Given the description of an element on the screen output the (x, y) to click on. 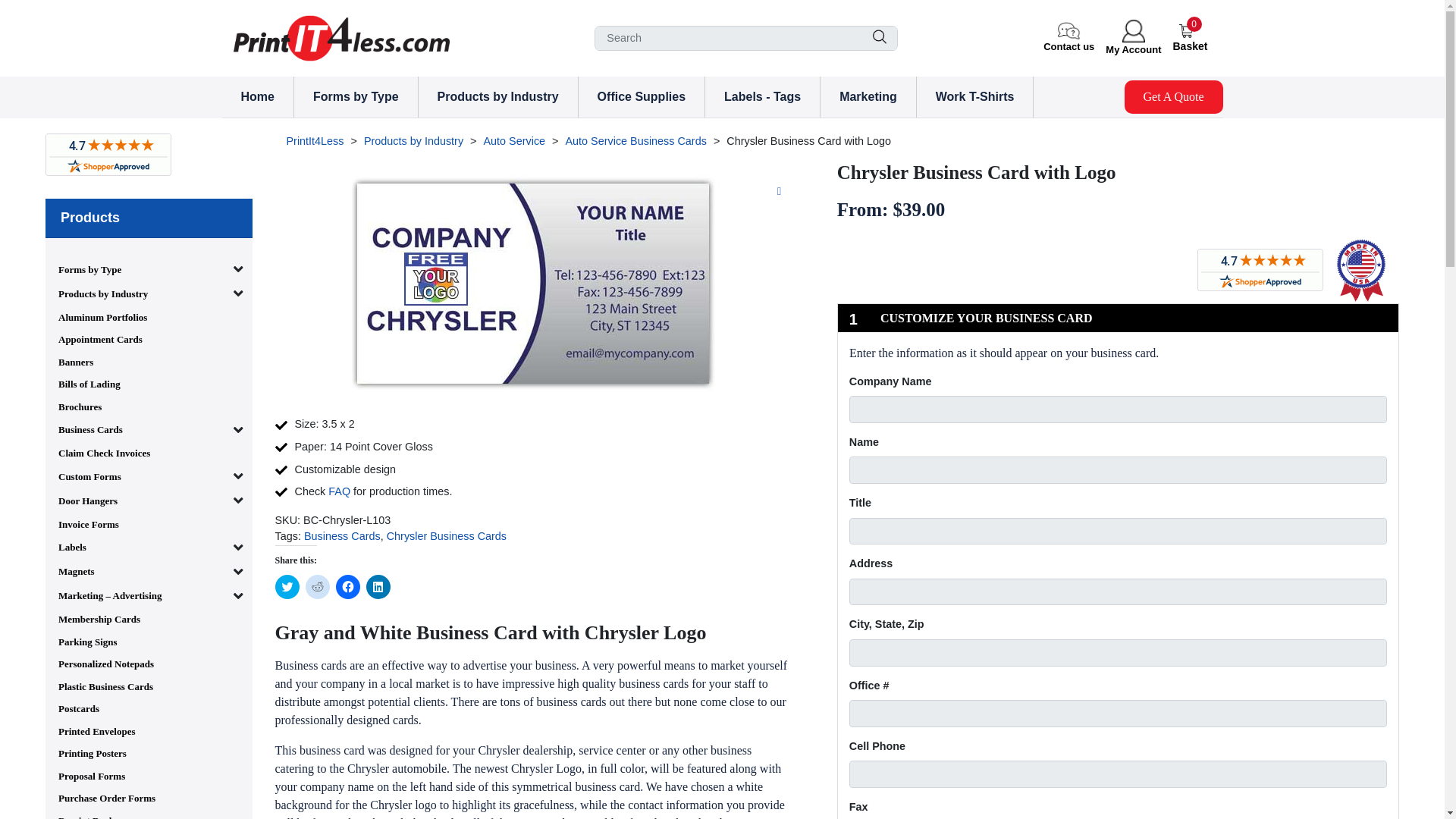
Click to share on Twitter (286, 586)
Click to share on Reddit (316, 586)
Click to share on Facebook (346, 586)
Go to the Products by Industry Category archives. (413, 141)
bc-logo-chrysler-l103 (532, 282)
Click to share on LinkedIn (377, 586)
Go to the Auto Service Category archives. (514, 141)
Go to the Auto Service Business Cards Category archives. (636, 141)
Go to PrintIt4Less. (314, 141)
